Given the description of an element on the screen output the (x, y) to click on. 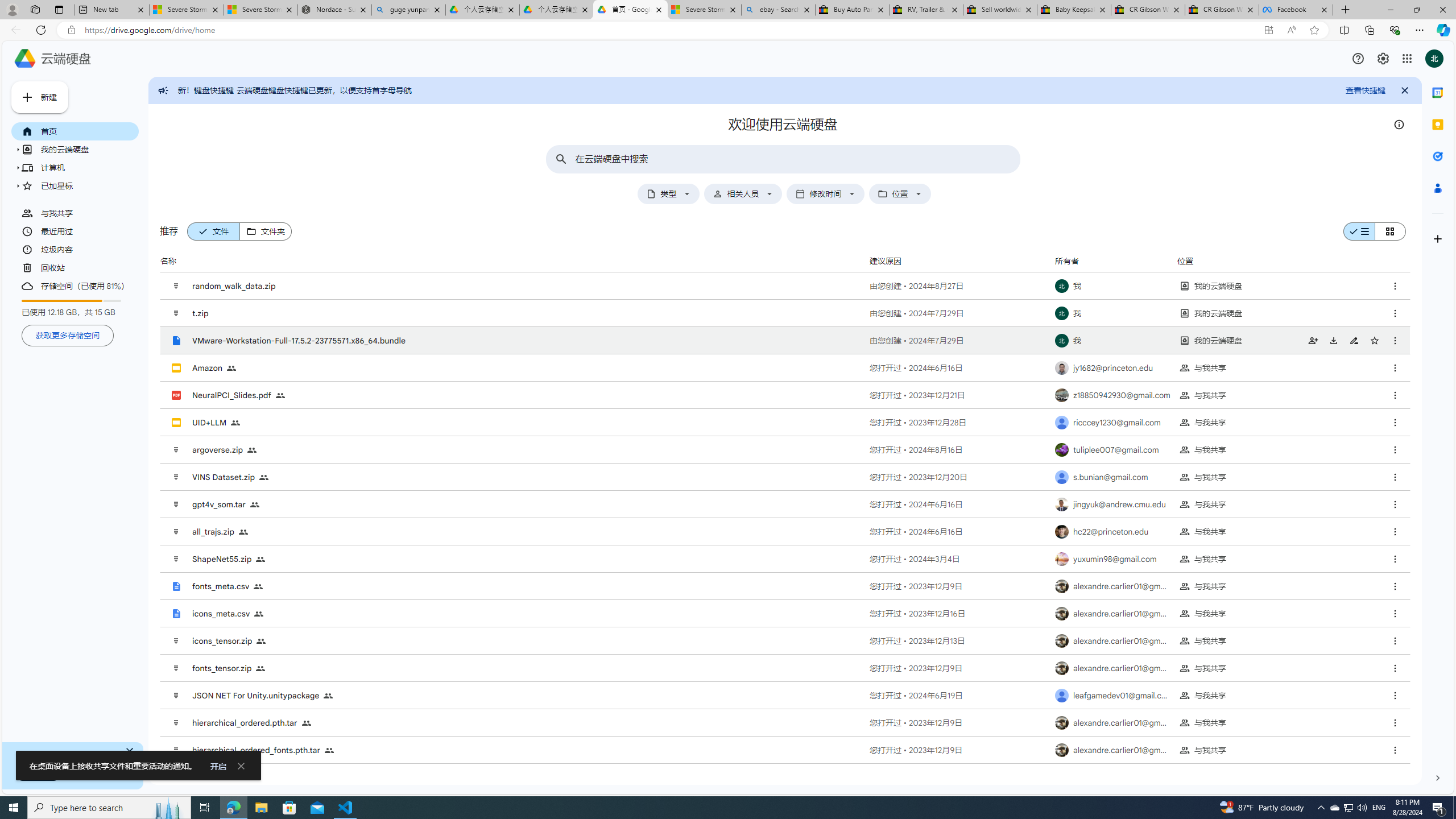
Class: wo35tf (1358, 58)
